Given the description of an element on the screen output the (x, y) to click on. 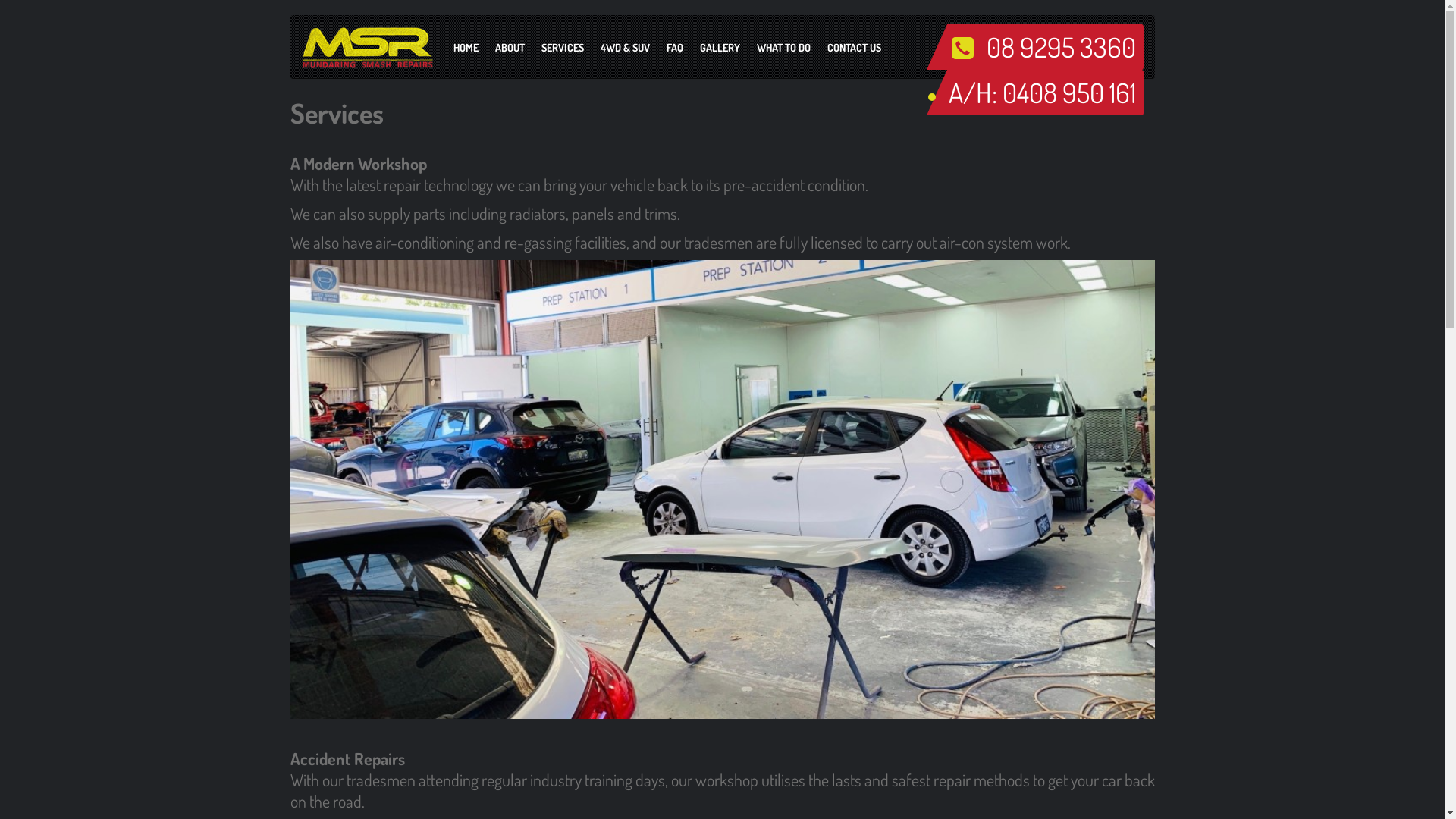
08 9295 3360 Element type: text (1060, 46)
CONTACT US Element type: text (854, 47)
WHAT TO DO Element type: text (782, 47)
GALLERY Element type: text (719, 47)
ABOUT Element type: text (509, 47)
A/H: 0408 950 161 Element type: text (1041, 92)
4WD & SUV Element type: text (624, 47)
SERVICES Element type: text (561, 47)
FAQ Element type: text (674, 47)
HOME Element type: text (465, 47)
